Given the description of an element on the screen output the (x, y) to click on. 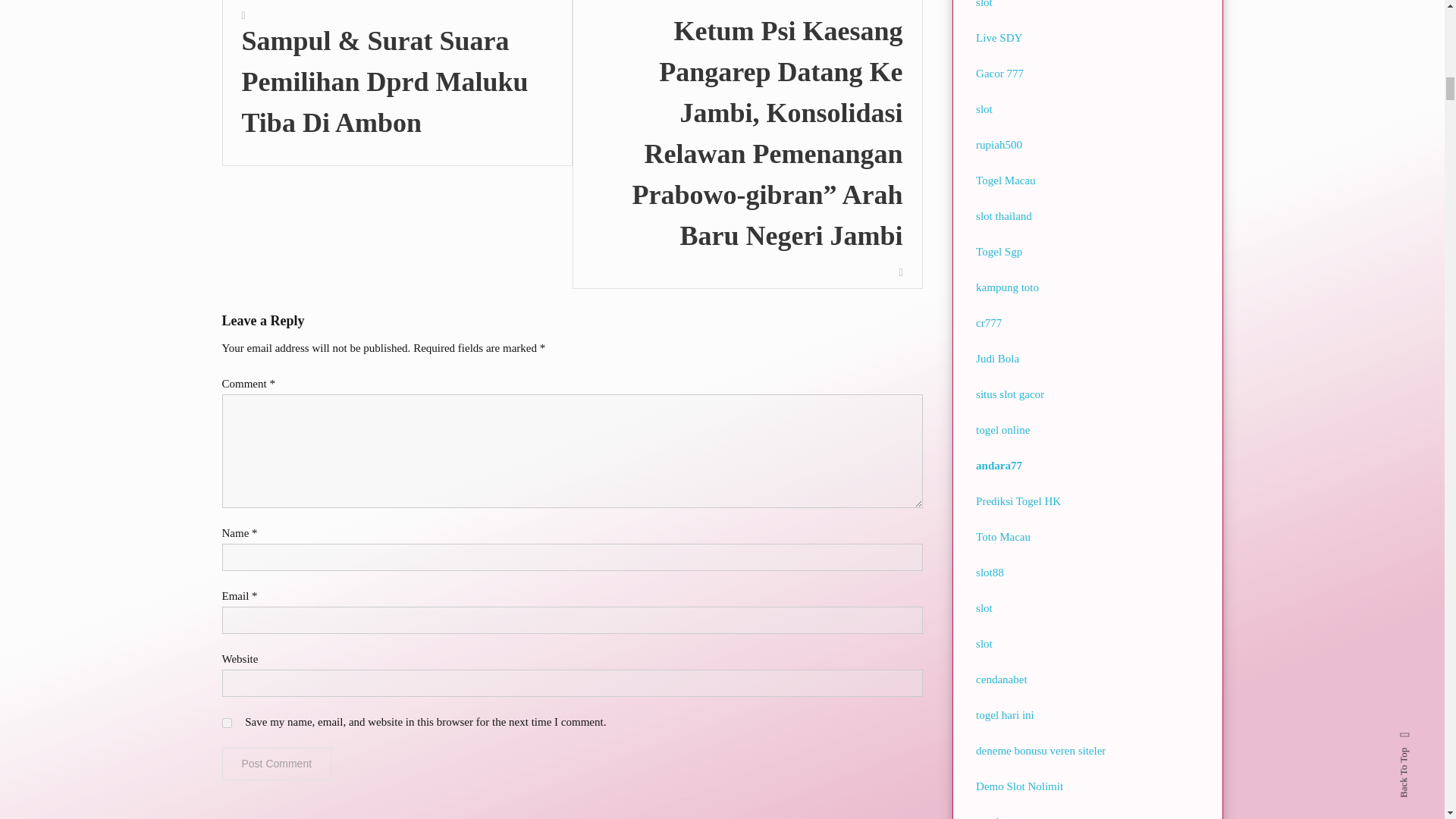
yes (226, 723)
Post Comment (276, 763)
Post Comment (276, 763)
